Given the description of an element on the screen output the (x, y) to click on. 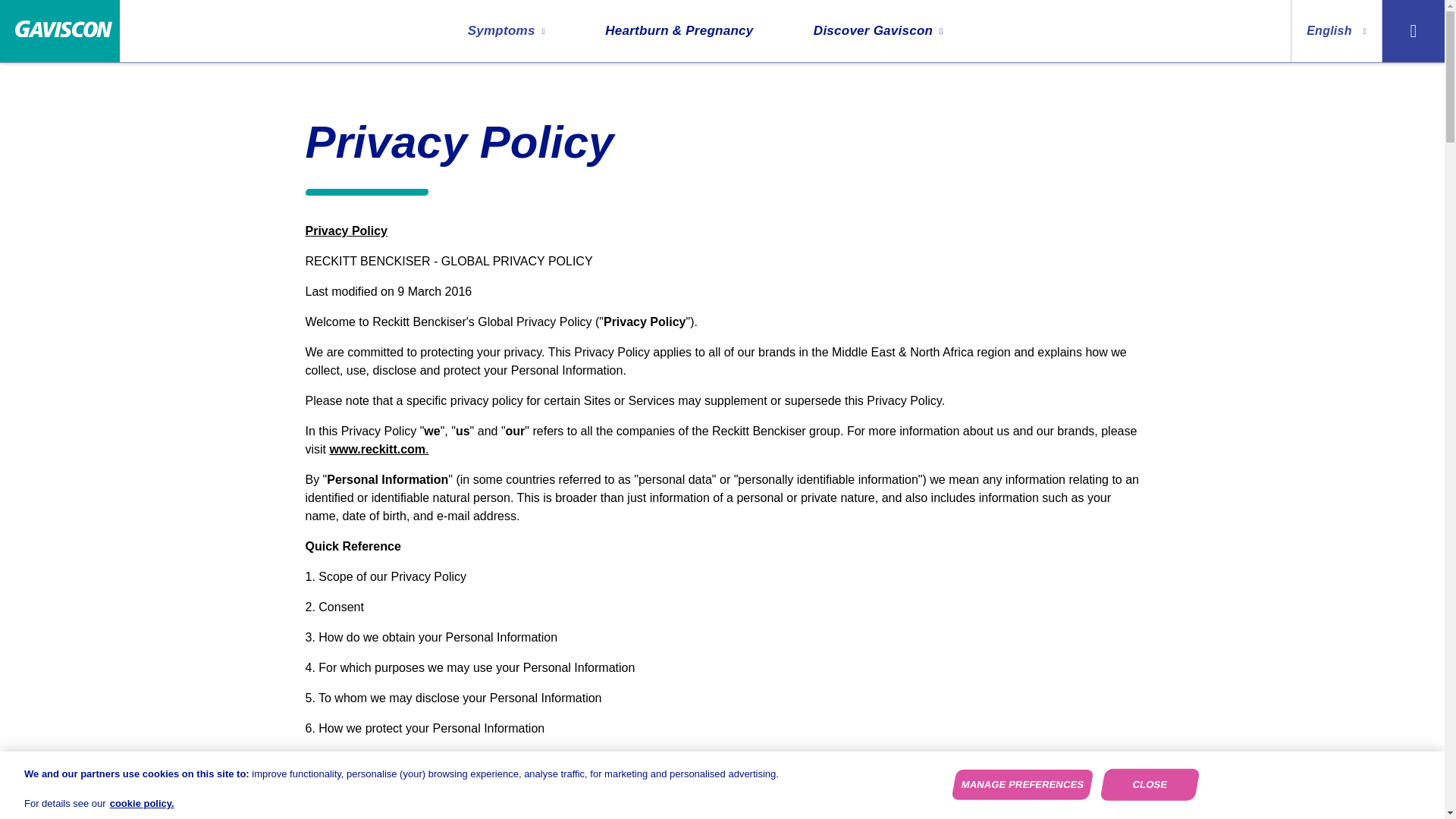
MANAGE PREFERENCES (1019, 784)
CLOSE (1146, 784)
www.reckitt.com (377, 449)
Symptoms (505, 31)
cookie policy. (142, 803)
English (1335, 31)
Discover Gaviscon (878, 31)
